Given the description of an element on the screen output the (x, y) to click on. 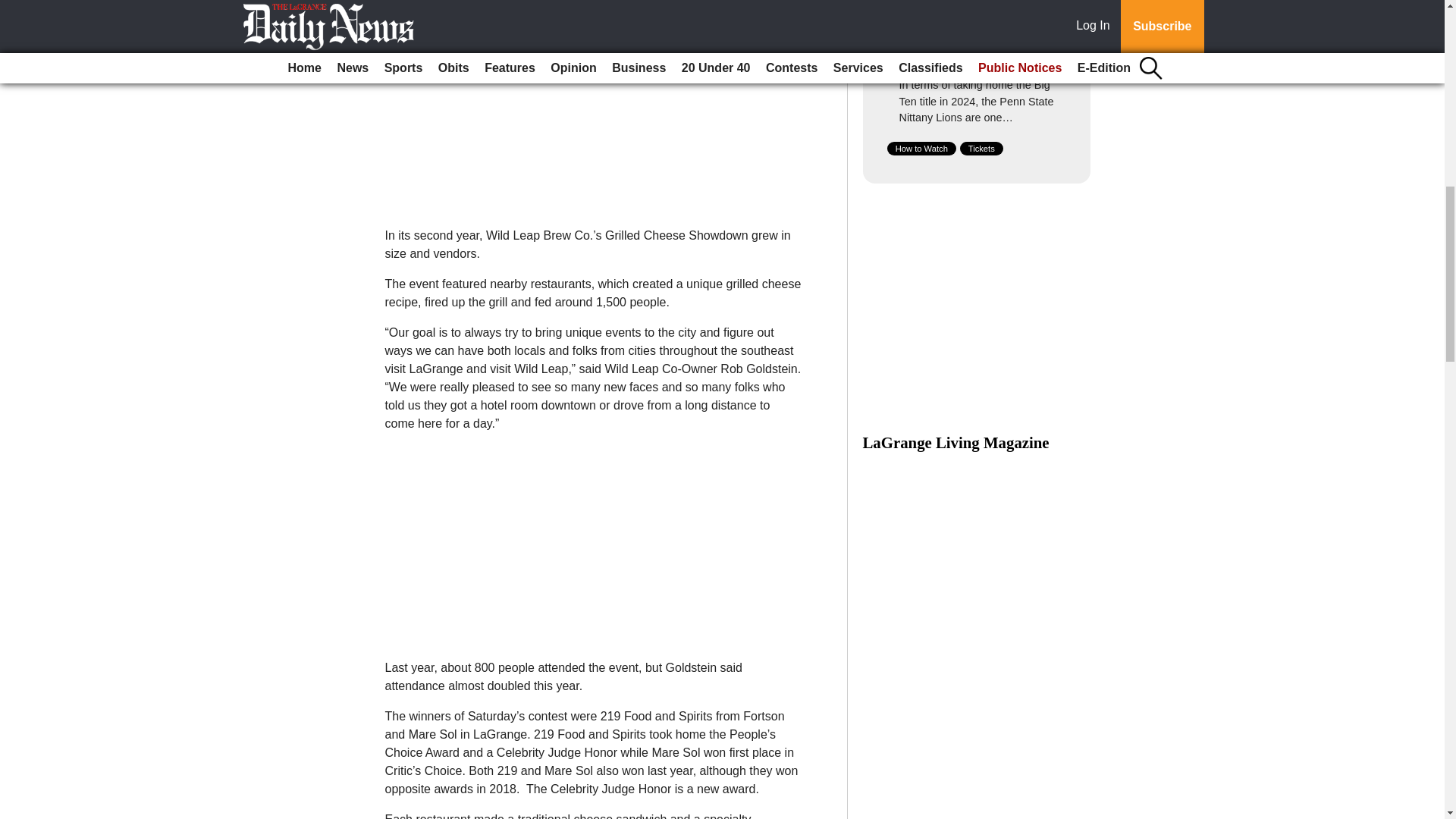
How to Watch (921, 148)
Tickets (981, 148)
